Given the description of an element on the screen output the (x, y) to click on. 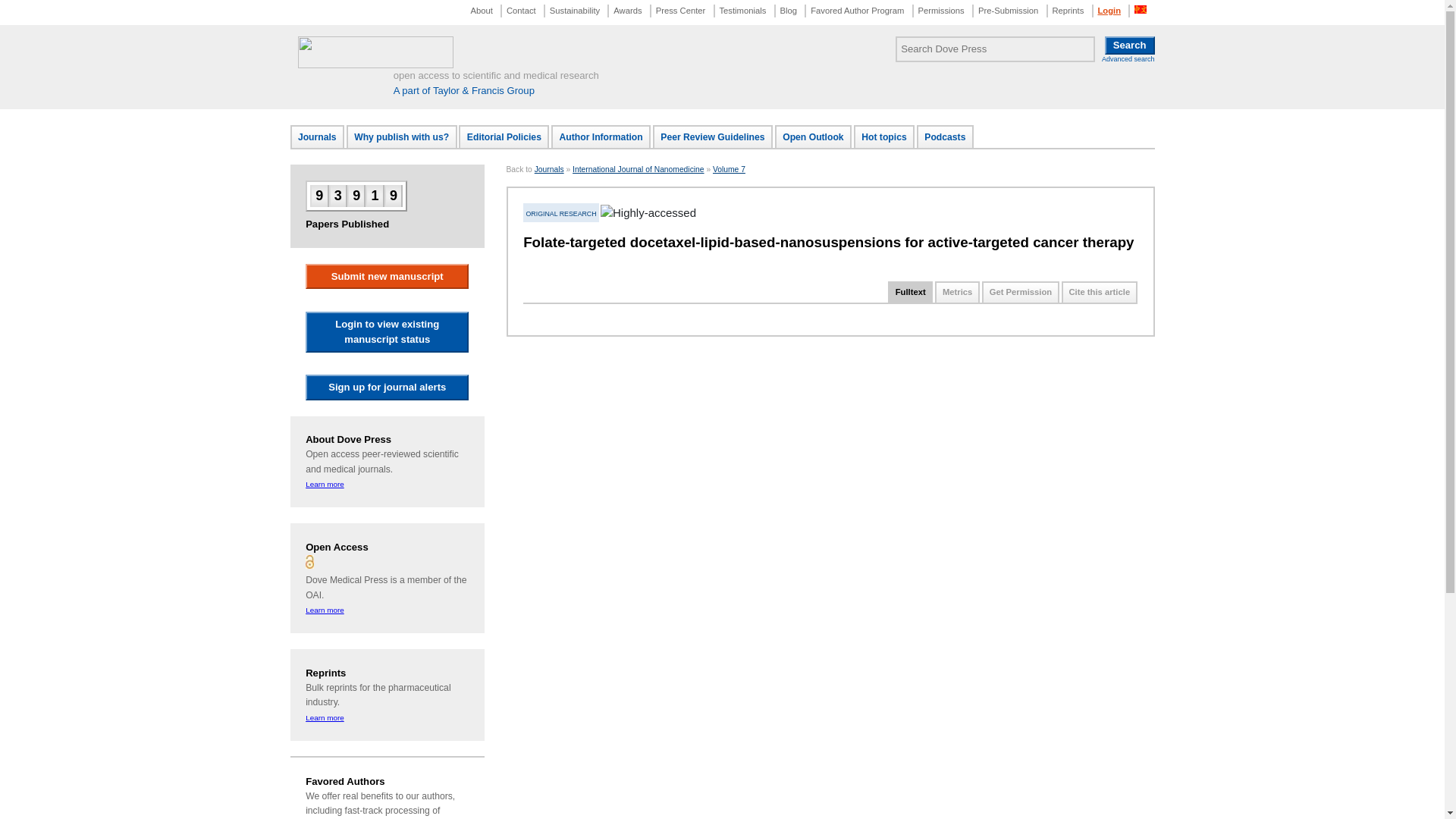
Sign up for journal alerts (386, 387)
Login (1109, 10)
Blog (788, 10)
Open Outlook (812, 136)
Learn more (324, 483)
Favored Author Program (857, 10)
share this page on WeChat (584, 269)
Permissions (940, 10)
Search (1129, 45)
Reprints (1067, 10)
